Given the description of an element on the screen output the (x, y) to click on. 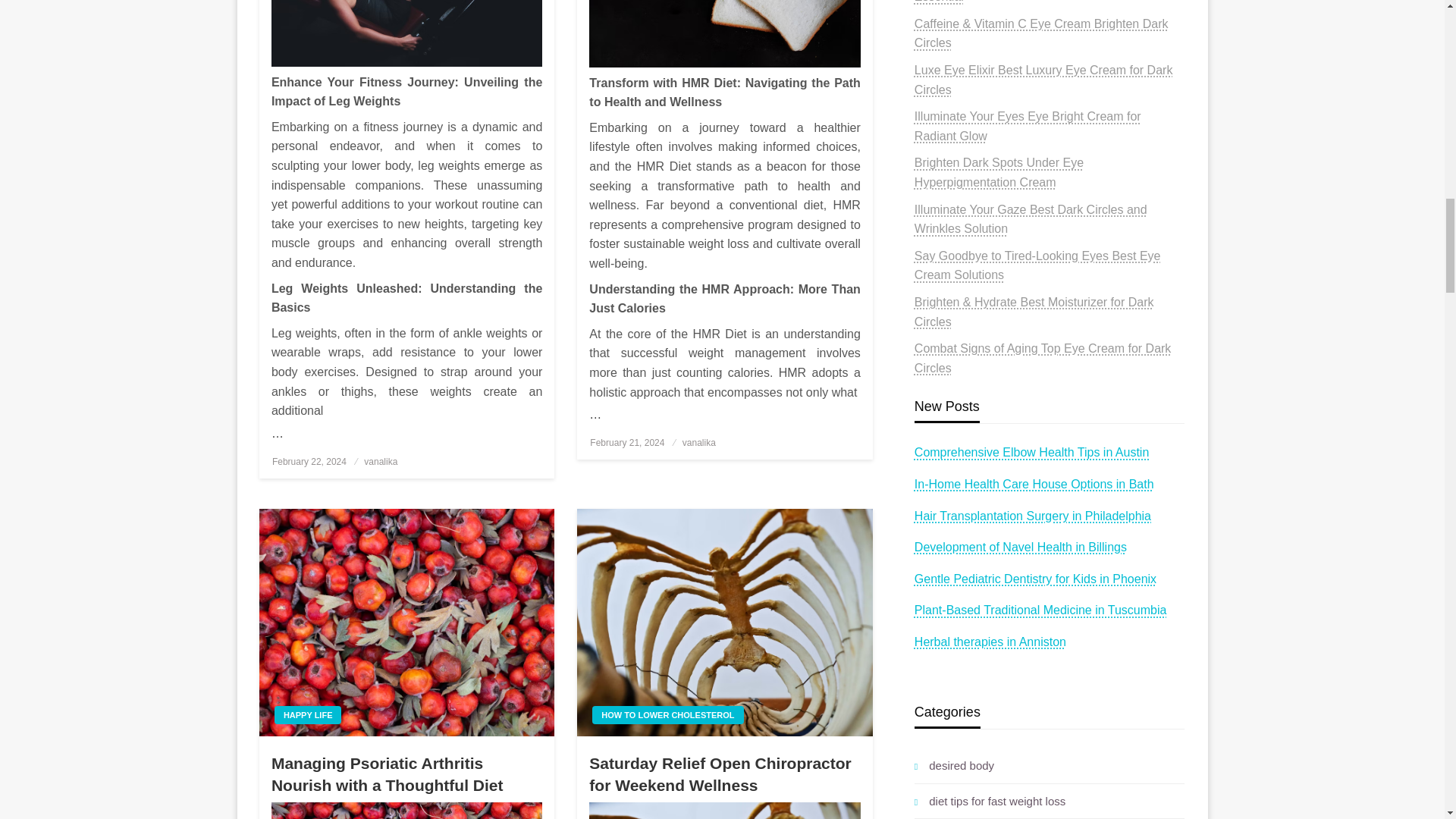
February 22, 2024 (309, 461)
vanalika (380, 461)
vanalika (699, 442)
vanalika (380, 461)
